Given the description of an element on the screen output the (x, y) to click on. 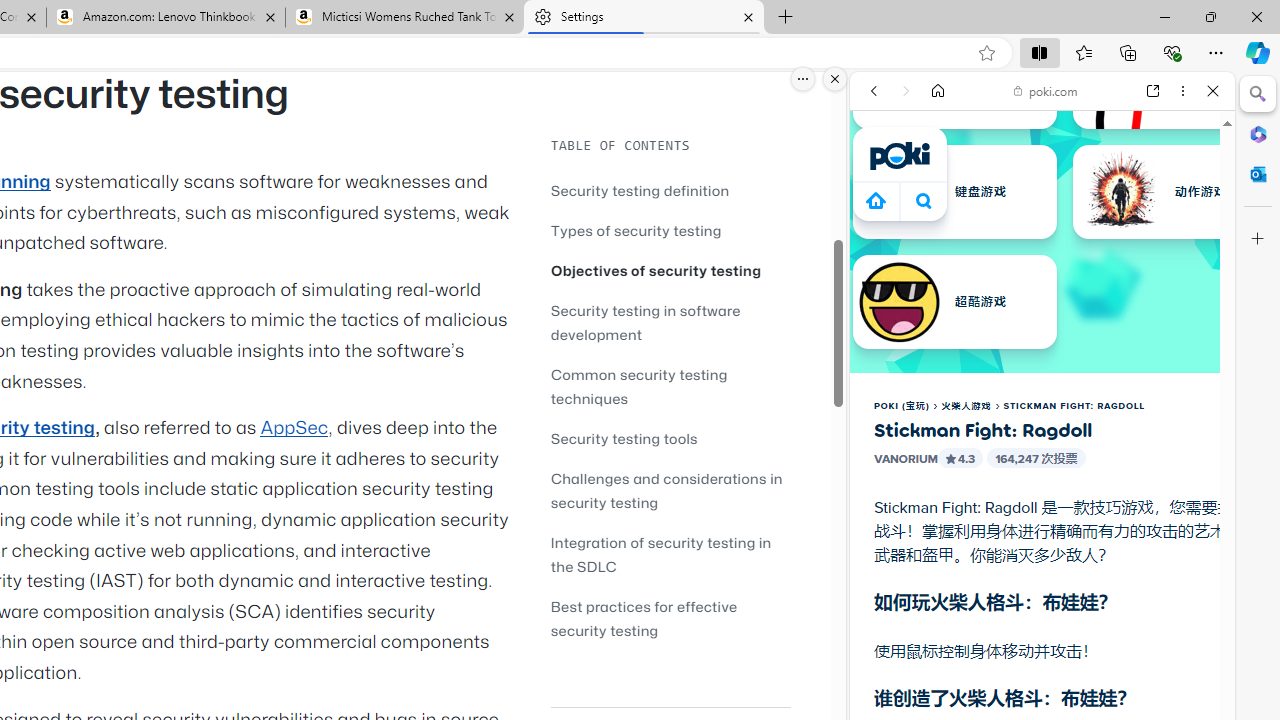
Best practices for effective security testing (670, 618)
poki.com (1046, 90)
SEARCH TOOLS (1093, 228)
Security testing definition (670, 190)
STICKMAN FIGHT: RAGDOLL (1074, 406)
Two Player Games (1042, 568)
Types of security testing (635, 230)
Class: b_serphb (1190, 229)
